Given the description of an element on the screen output the (x, y) to click on. 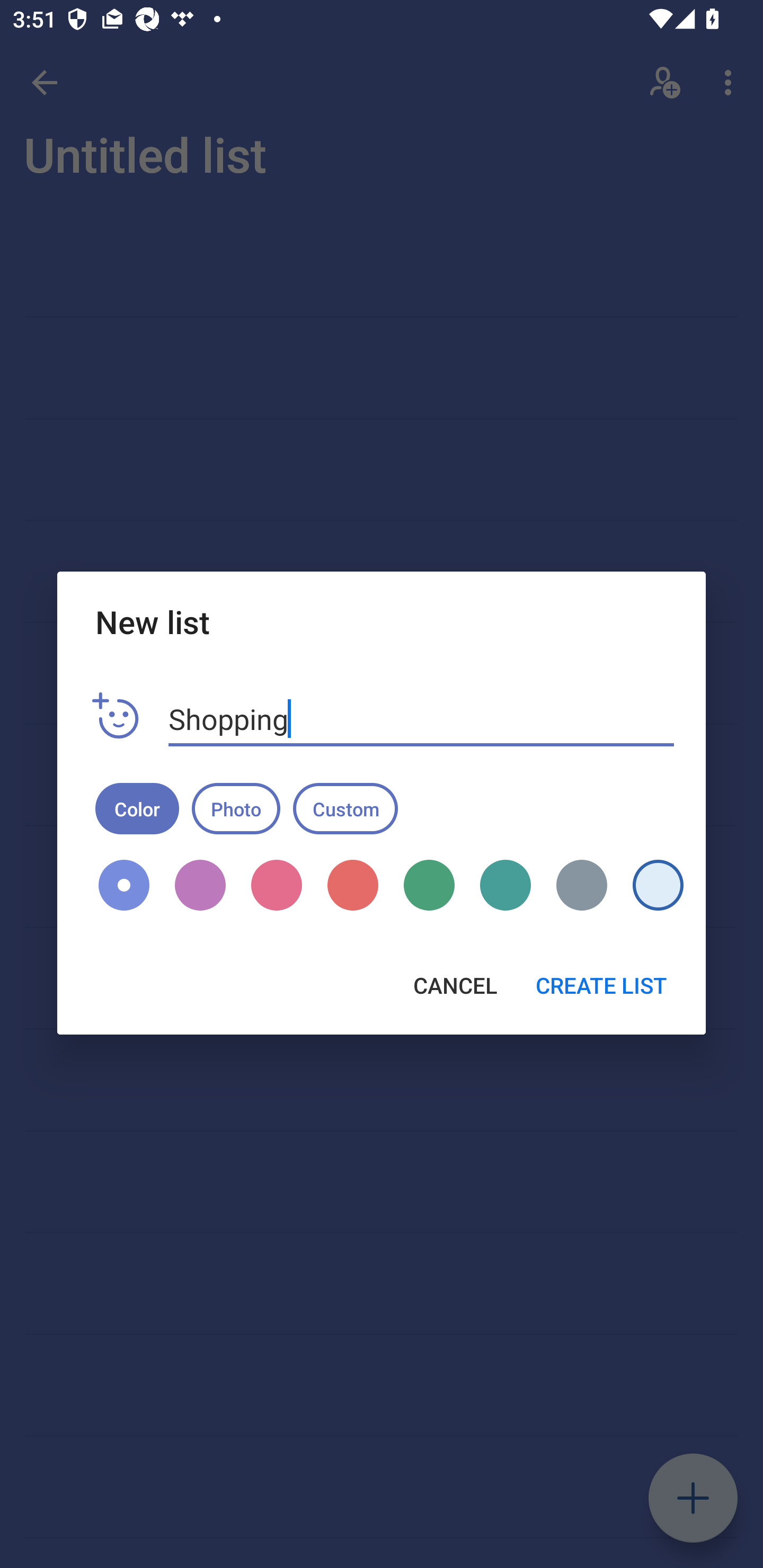
CREATE LIST (601, 985)
